Given the description of an element on the screen output the (x, y) to click on. 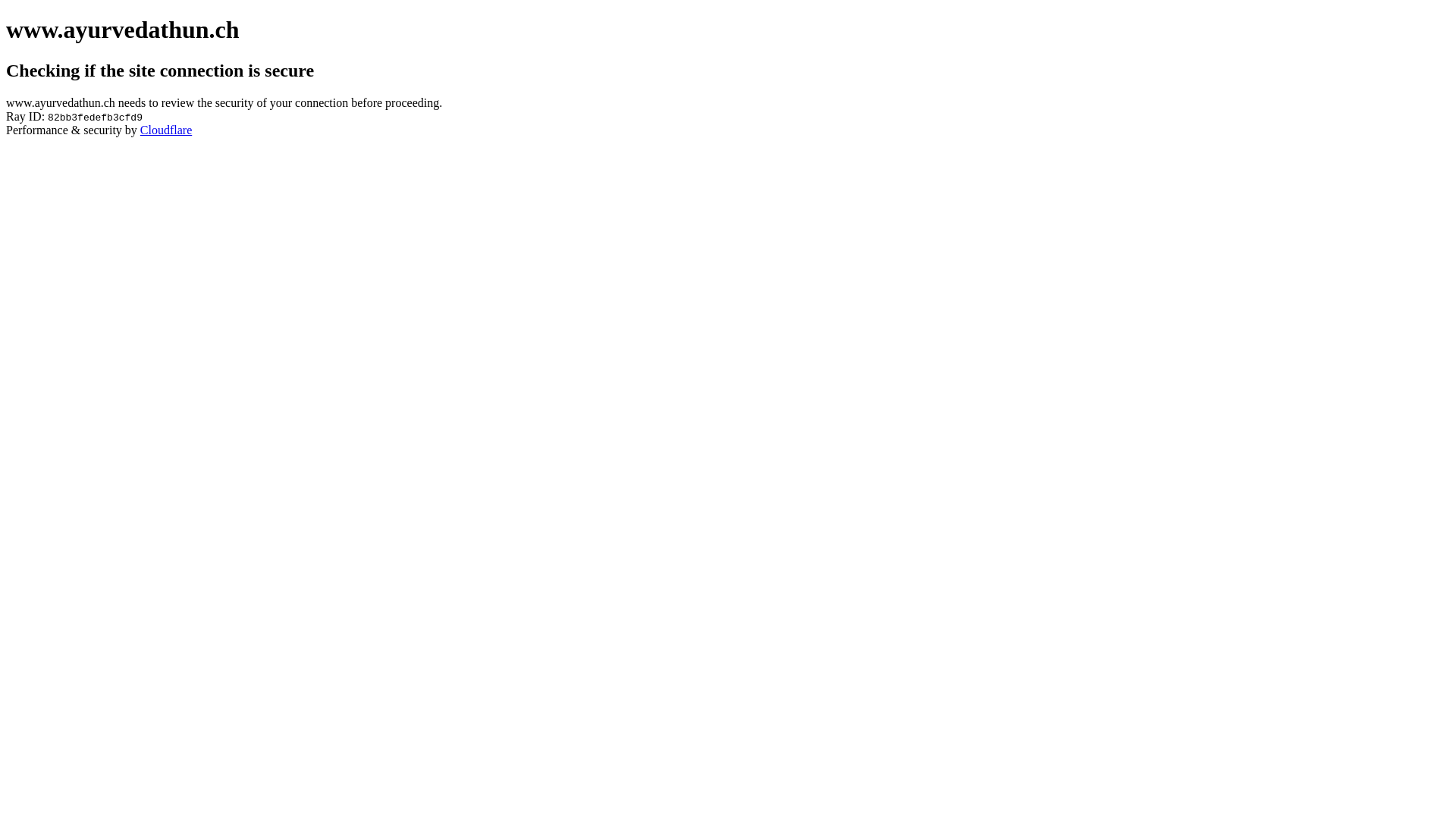
Cloudflare Element type: text (165, 129)
